Given the description of an element on the screen output the (x, y) to click on. 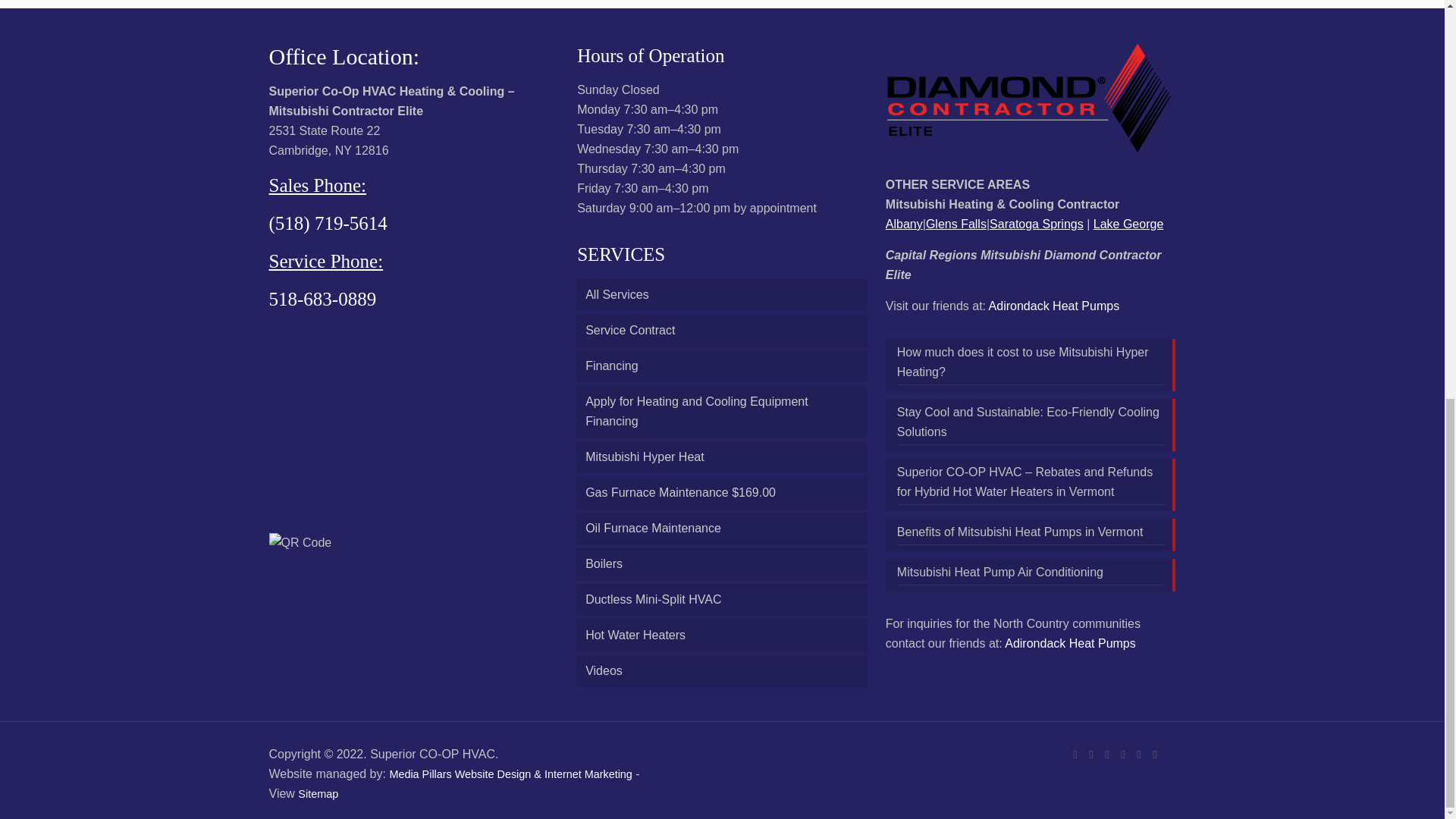
mits diamond contractor (1030, 100)
